Given the description of an element on the screen output the (x, y) to click on. 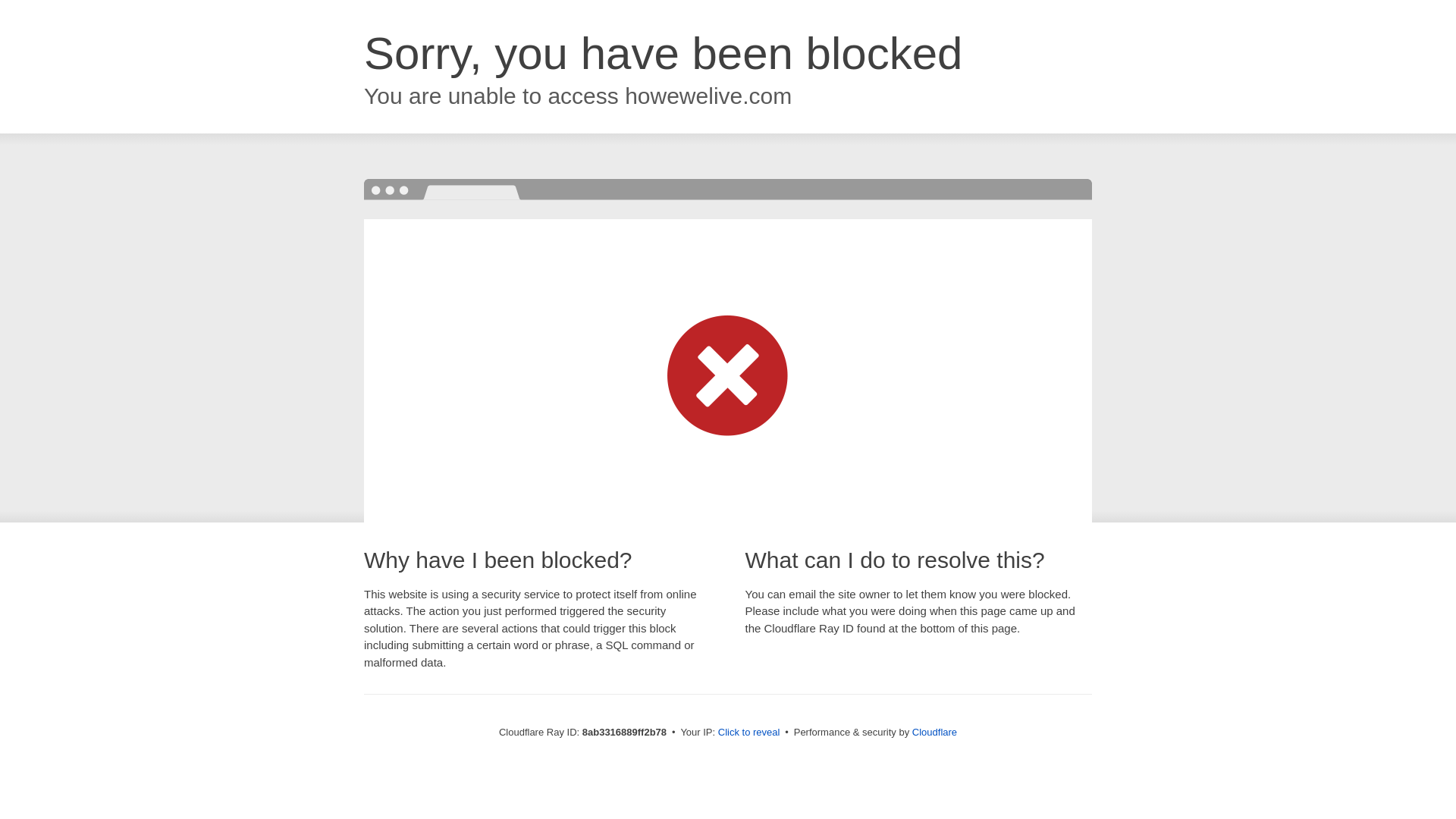
Click to reveal (748, 732)
Cloudflare (934, 731)
